Given the description of an element on the screen output the (x, y) to click on. 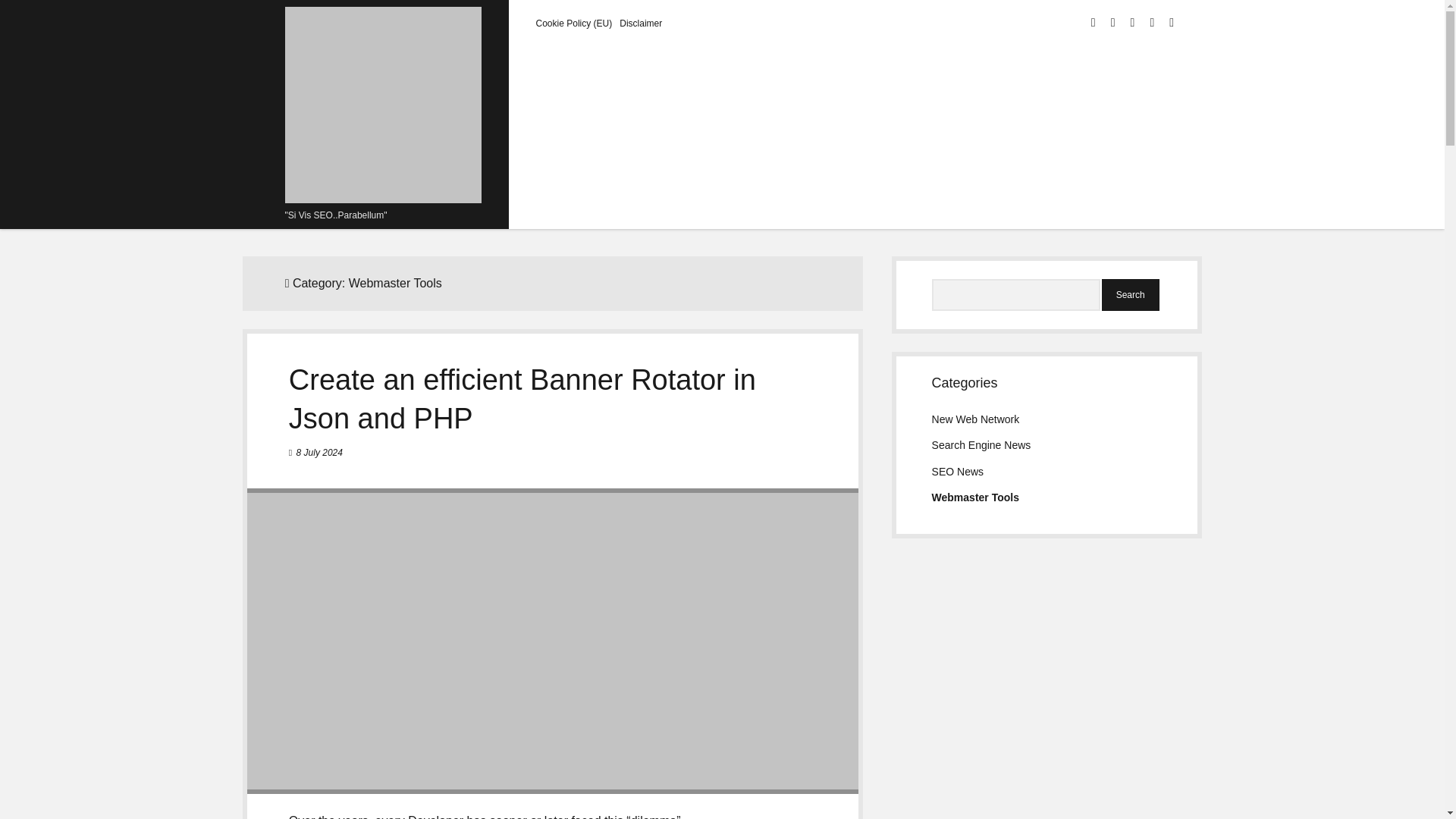
New Web Network (975, 419)
8 July 2024 (319, 452)
Disclaimer (641, 23)
Search (1130, 295)
Search for: (1015, 295)
Search (1130, 295)
Create an efficient Banner Rotator in Json and PHP (521, 398)
Search (1130, 295)
